Given the description of an element on the screen output the (x, y) to click on. 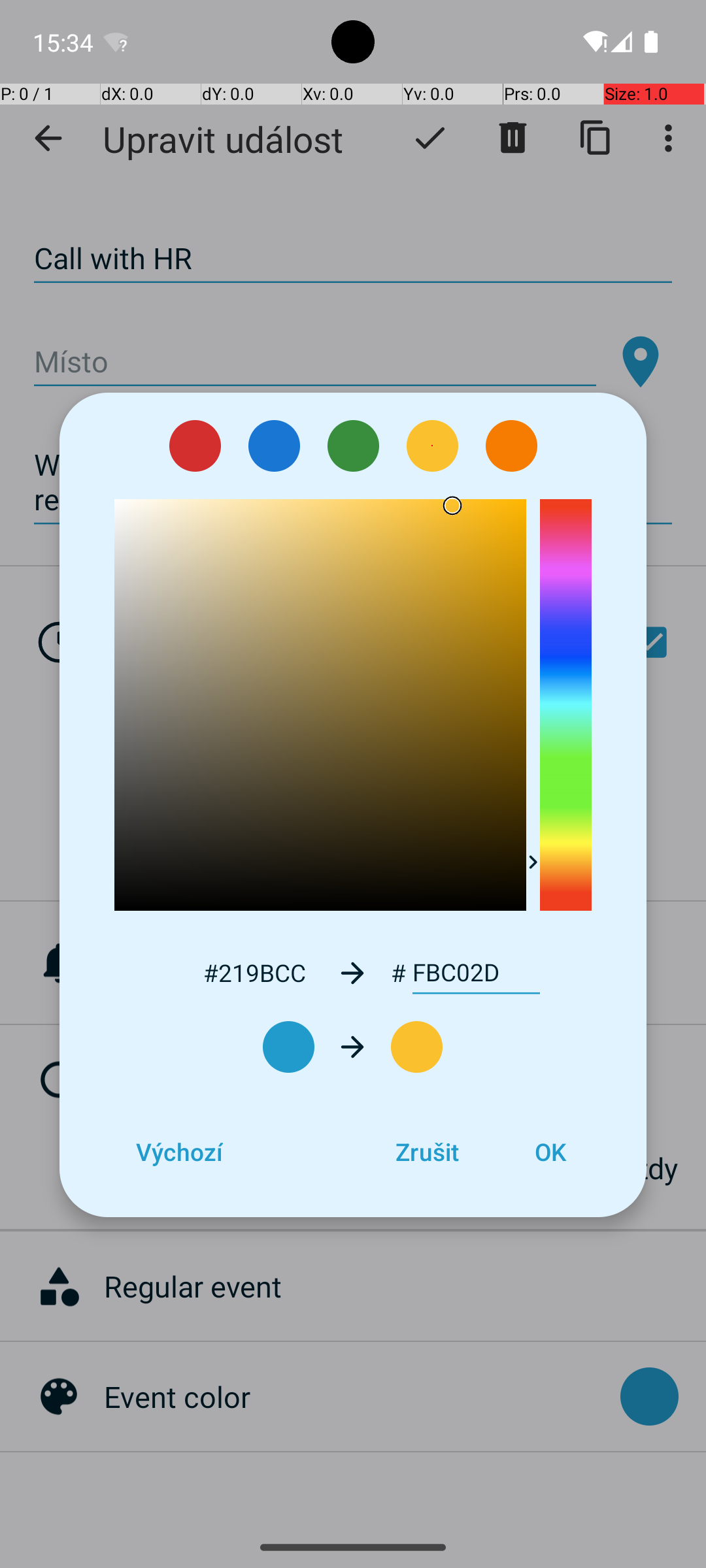
FBC02D Element type: android.widget.EditText (475, 972)
Výchozí Element type: android.widget.Button (178, 1151)
